Given the description of an element on the screen output the (x, y) to click on. 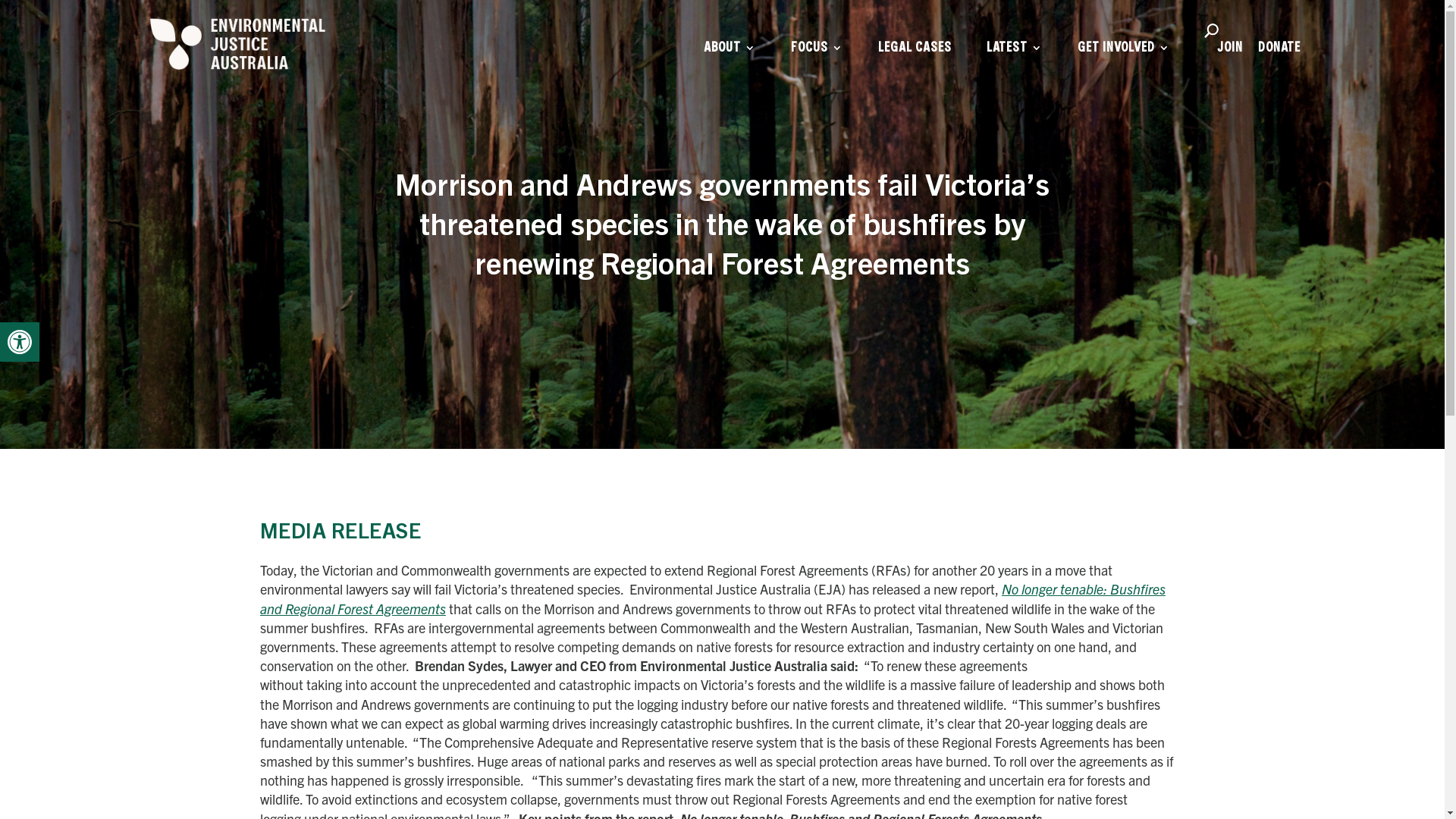
Open toolbar
Accessibility Tools Element type: text (19, 341)
ABOUT Element type: text (729, 60)
GET INVOLVED Element type: text (1122, 60)
JOIN Element type: text (1229, 60)
FOCUS Element type: text (816, 60)
LATEST Element type: text (1013, 60)
LEGAL CASES Element type: text (914, 60)
No longer tenable: Bushfires and Regional Forest Agreements Element type: text (712, 598)
DONATE Element type: text (1278, 60)
